Given the description of an element on the screen output the (x, y) to click on. 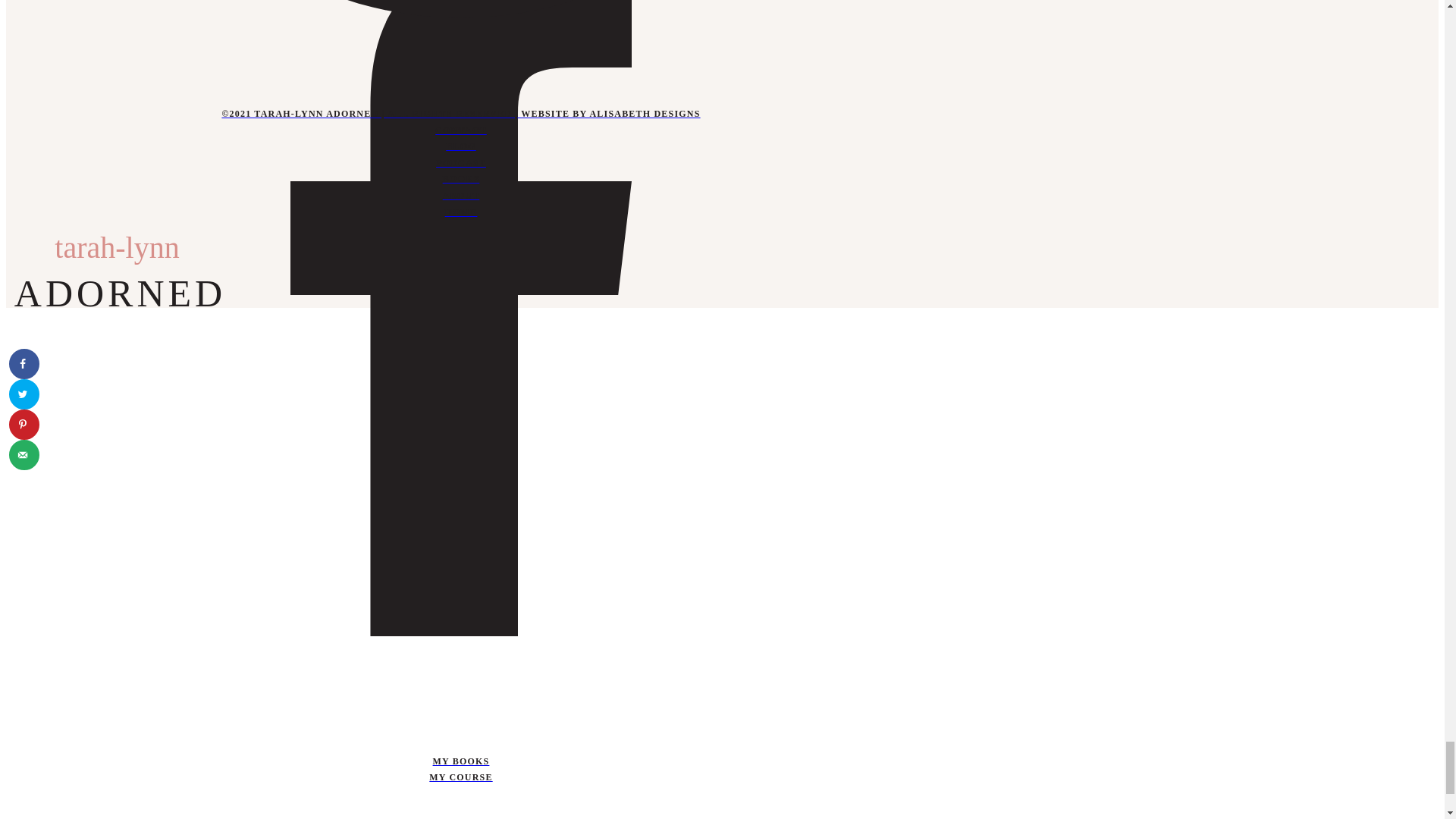
MY COURSE (460, 777)
MY BOOKS (460, 761)
